Given the description of an element on the screen output the (x, y) to click on. 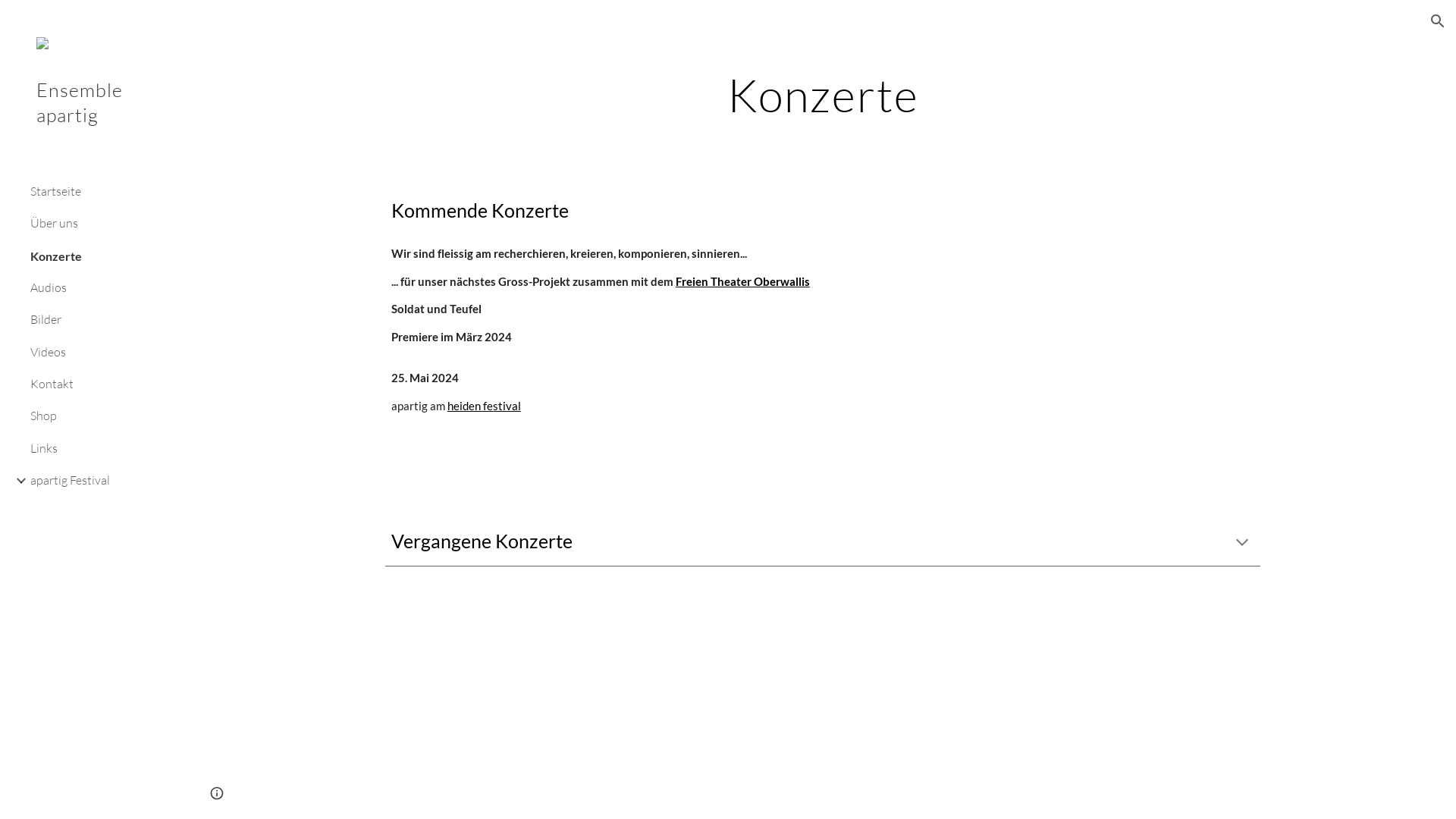
Shop Element type: text (103, 416)
heiden festival Element type: text (483, 405)
Expand/Collapse Element type: hover (16, 480)
Links Element type: text (103, 448)
Audios Element type: text (103, 287)
Videos Element type: text (103, 351)
Ensemble apartig Element type: text (94, 122)
Bilder Element type: text (103, 319)
Freien Theater Oberwallis Element type: text (742, 281)
Startseite Element type: text (103, 191)
apartig Festival Element type: text (103, 480)
Kontakt Element type: text (103, 384)
Konzerte Element type: text (103, 255)
